Given the description of an element on the screen output the (x, y) to click on. 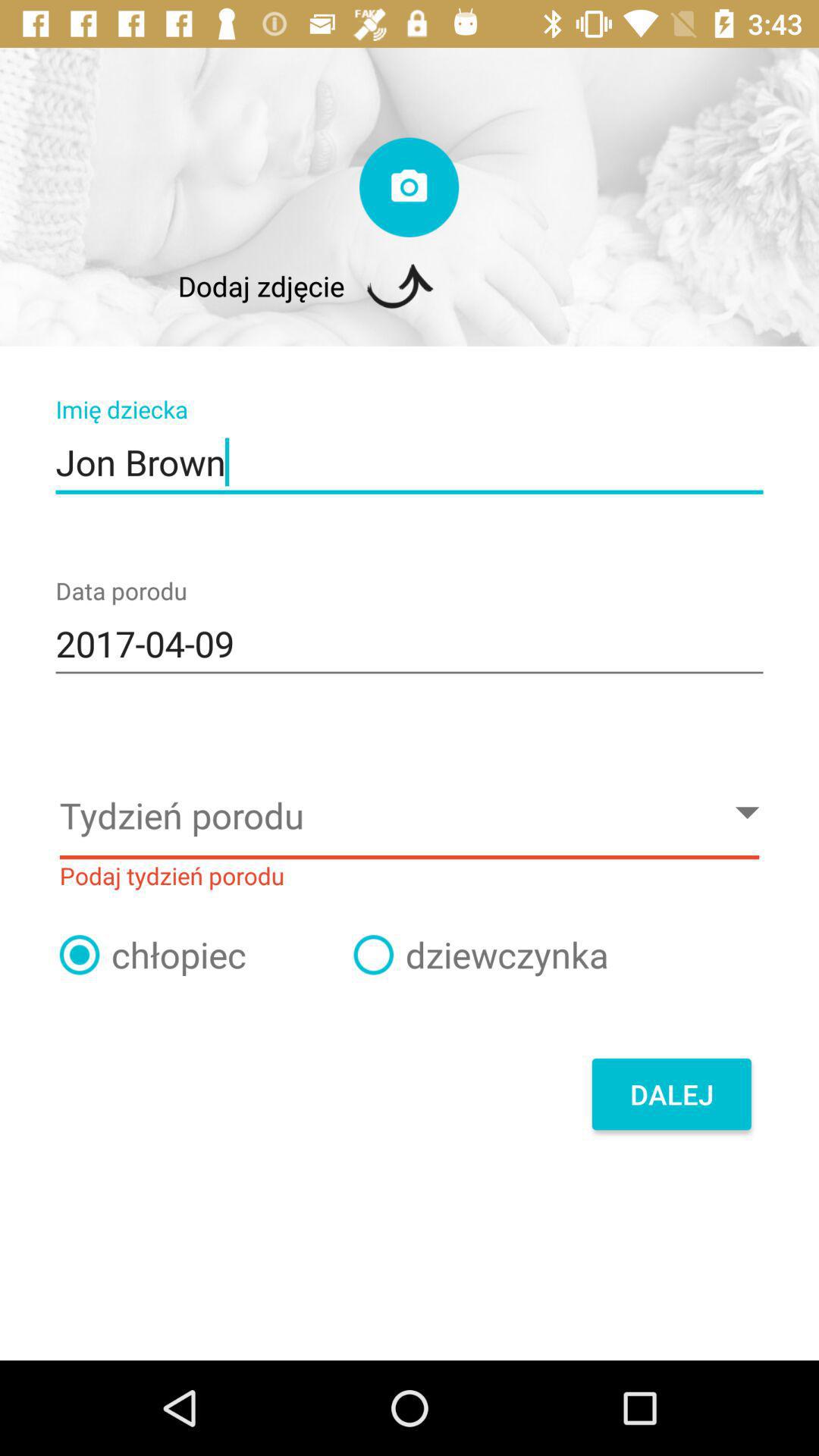
camera (408, 187)
